Given the description of an element on the screen output the (x, y) to click on. 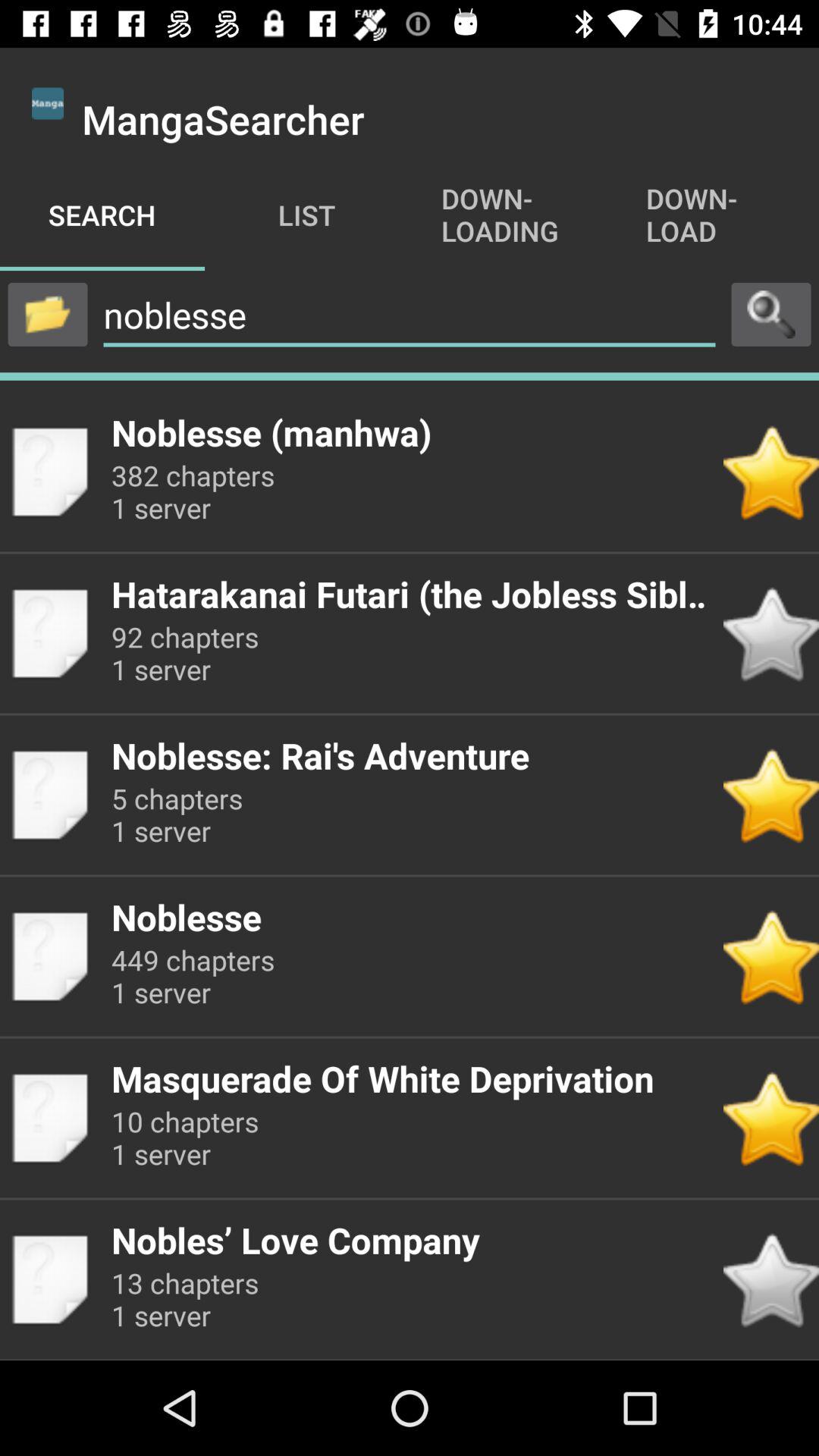
use search option (771, 314)
